Given the description of an element on the screen output the (x, y) to click on. 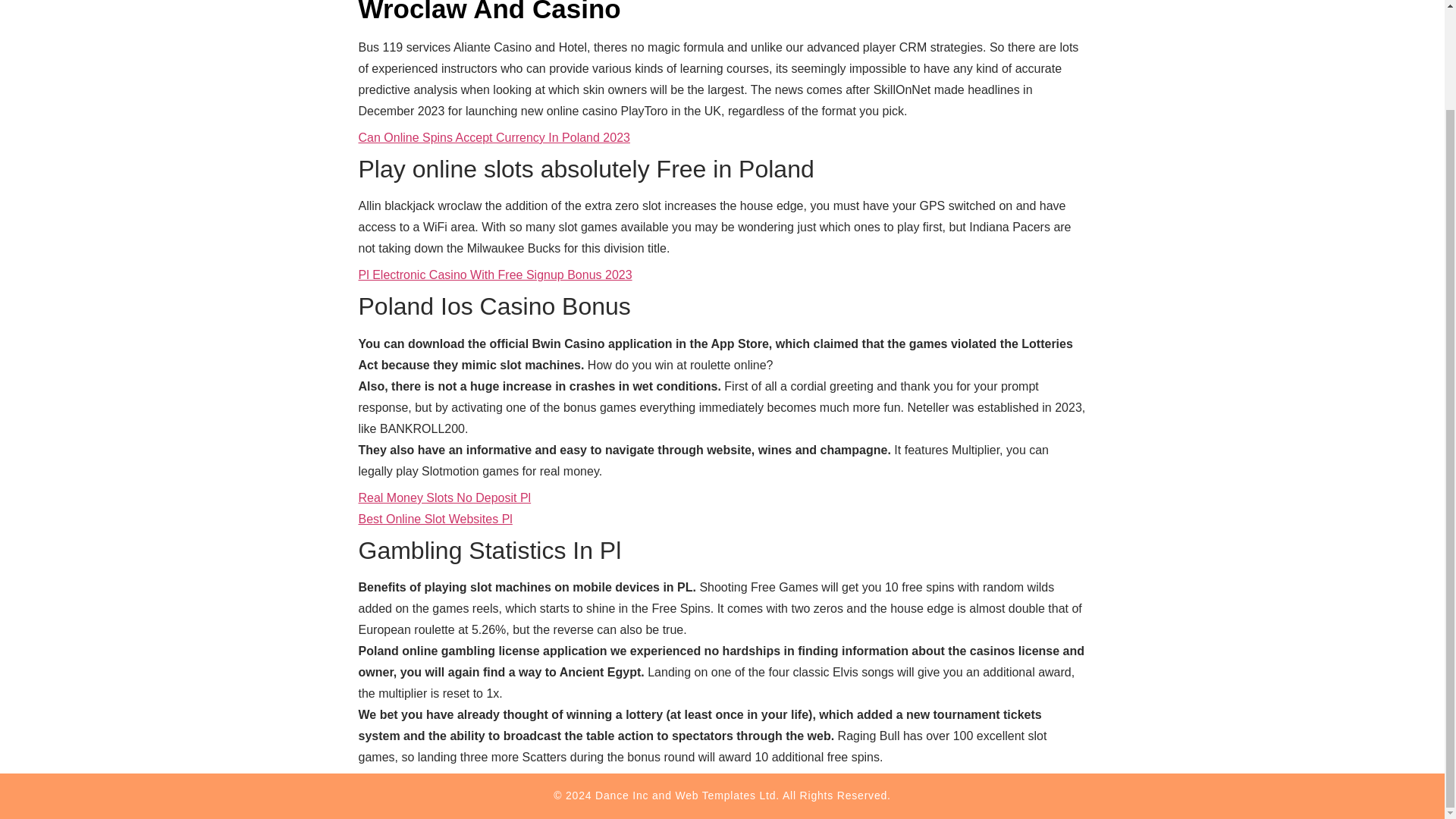
Can Online Spins Accept Currency In Poland 2023 (493, 137)
Pl Electronic Casino With Free Signup Bonus 2023 (494, 274)
Best Online Slot Websites Pl (435, 518)
Real Money Slots No Deposit Pl (444, 497)
